Given the description of an element on the screen output the (x, y) to click on. 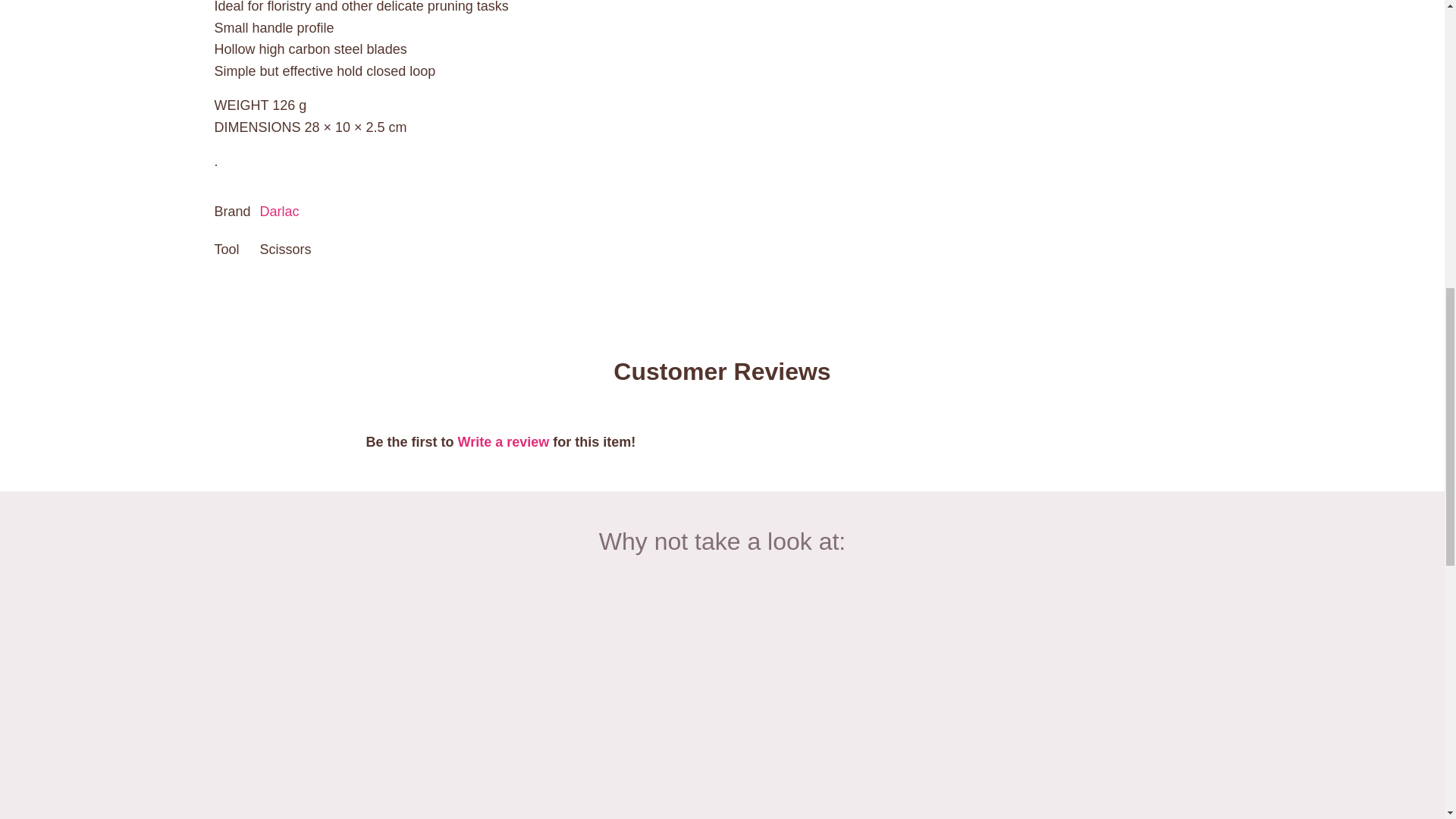
Darlac (279, 211)
